Given the description of an element on the screen output the (x, y) to click on. 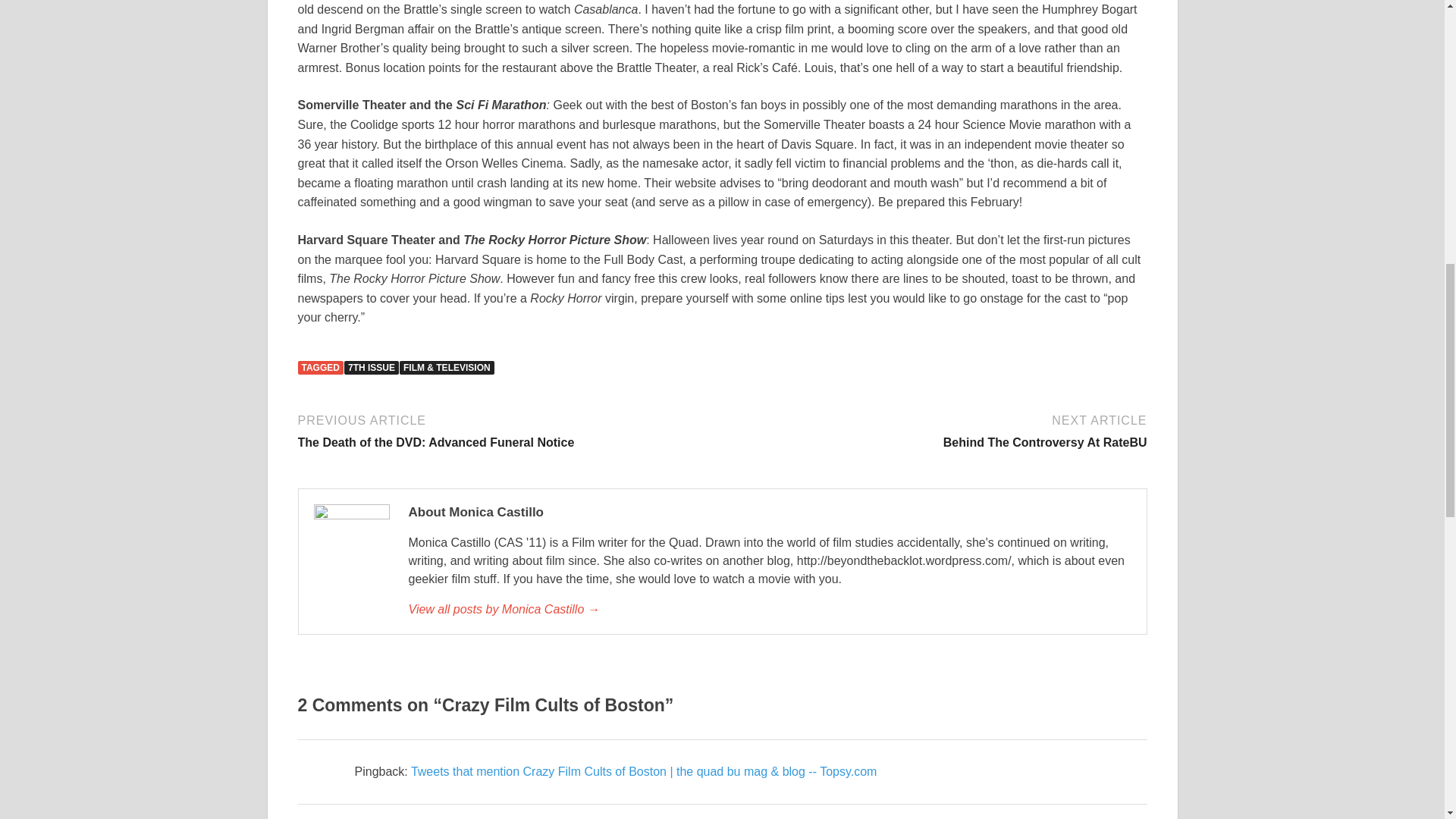
7TH ISSUE (936, 429)
Monica Castillo (370, 367)
